Given the description of an element on the screen output the (x, y) to click on. 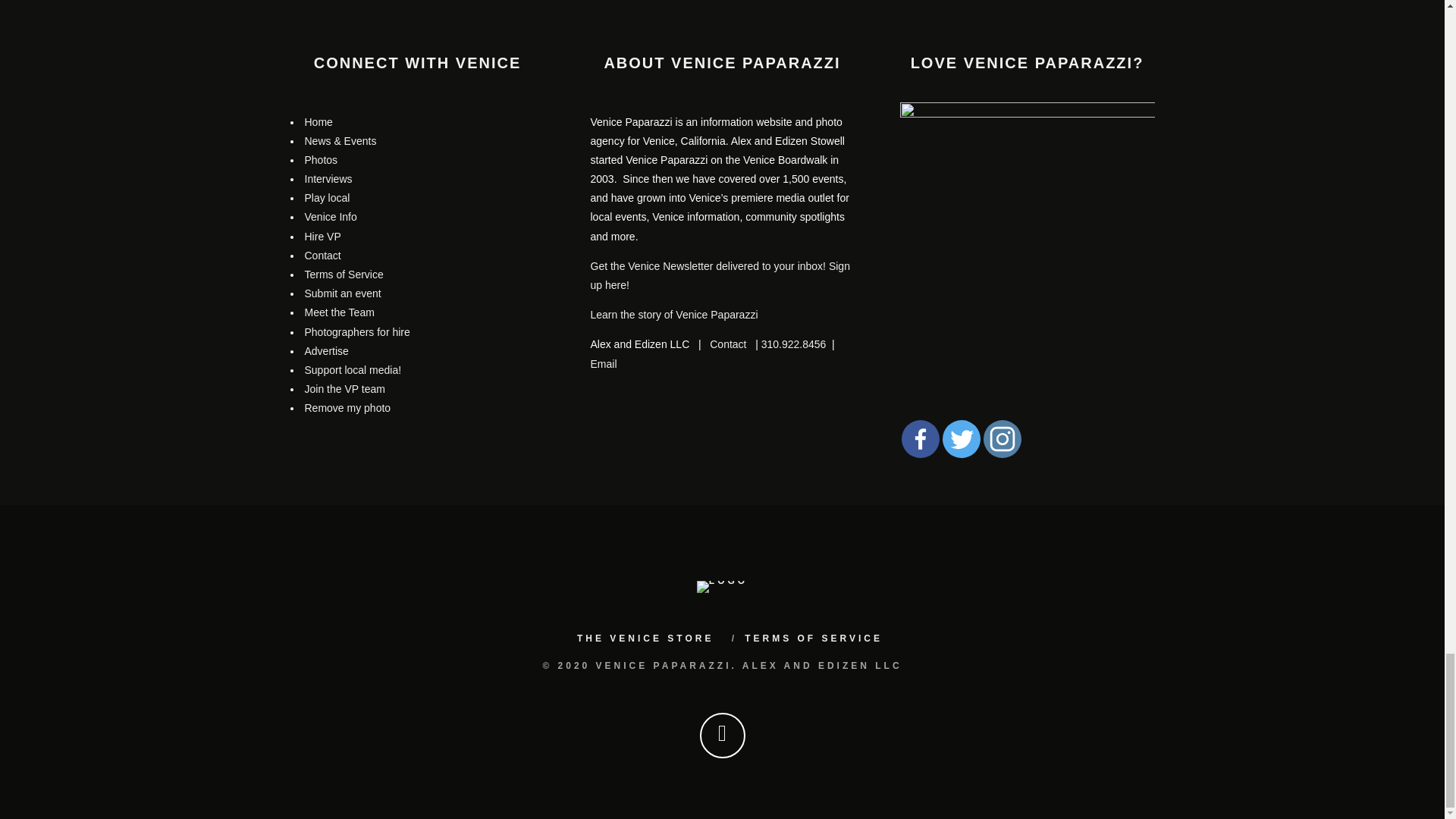
Facebook (920, 438)
Instagram (1001, 438)
Twitter (960, 438)
